Given the description of an element on the screen output the (x, y) to click on. 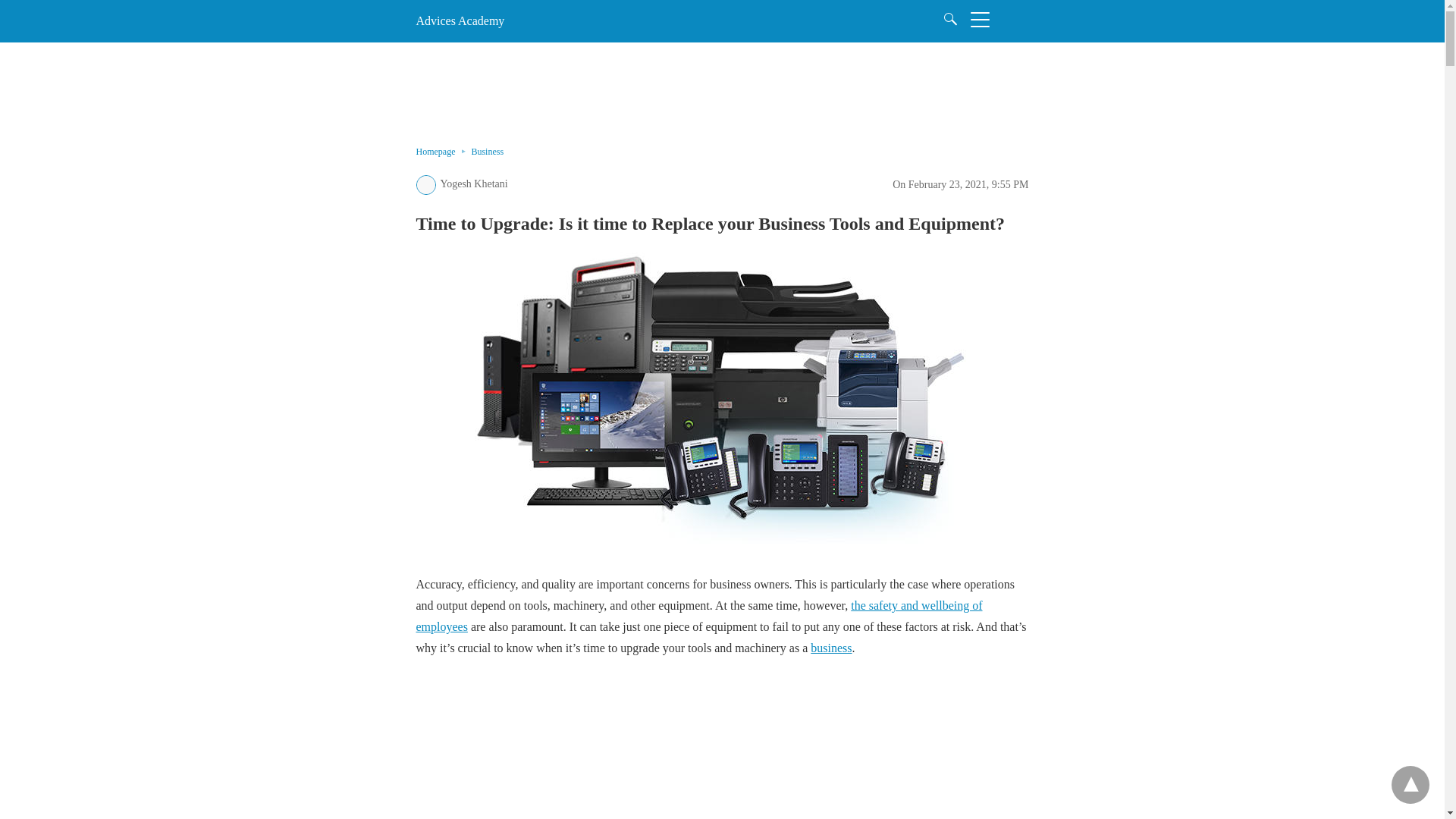
Business (486, 151)
Advices Academy (458, 20)
Homepage (442, 151)
Business (486, 151)
business (830, 647)
the safety and wellbeing of employees (697, 615)
back to top (1410, 784)
Homepage (442, 151)
3rd party ad content (720, 752)
